Given the description of an element on the screen output the (x, y) to click on. 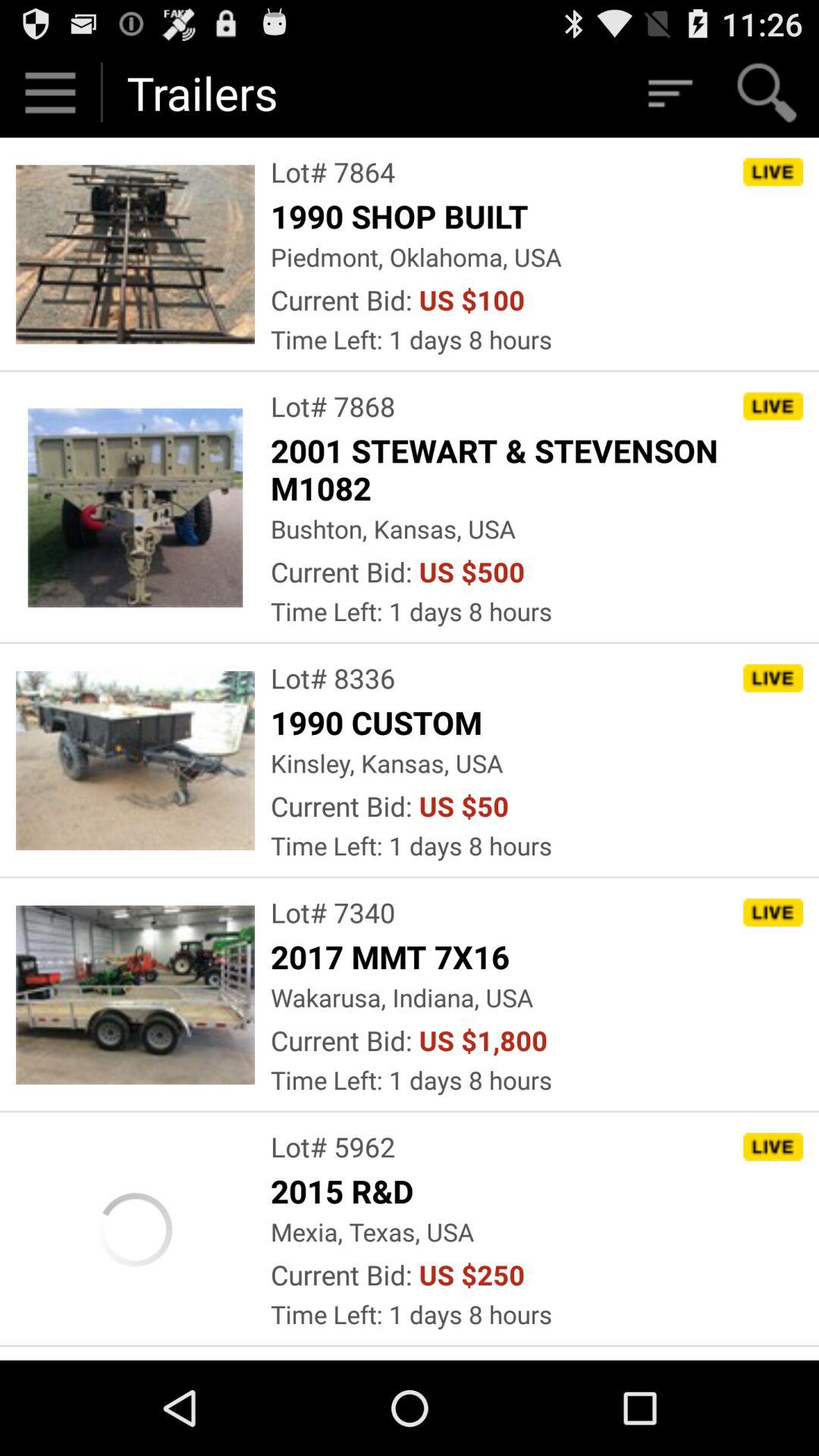
click item above the piedmont, oklahoma, usa item (403, 215)
